Given the description of an element on the screen output the (x, y) to click on. 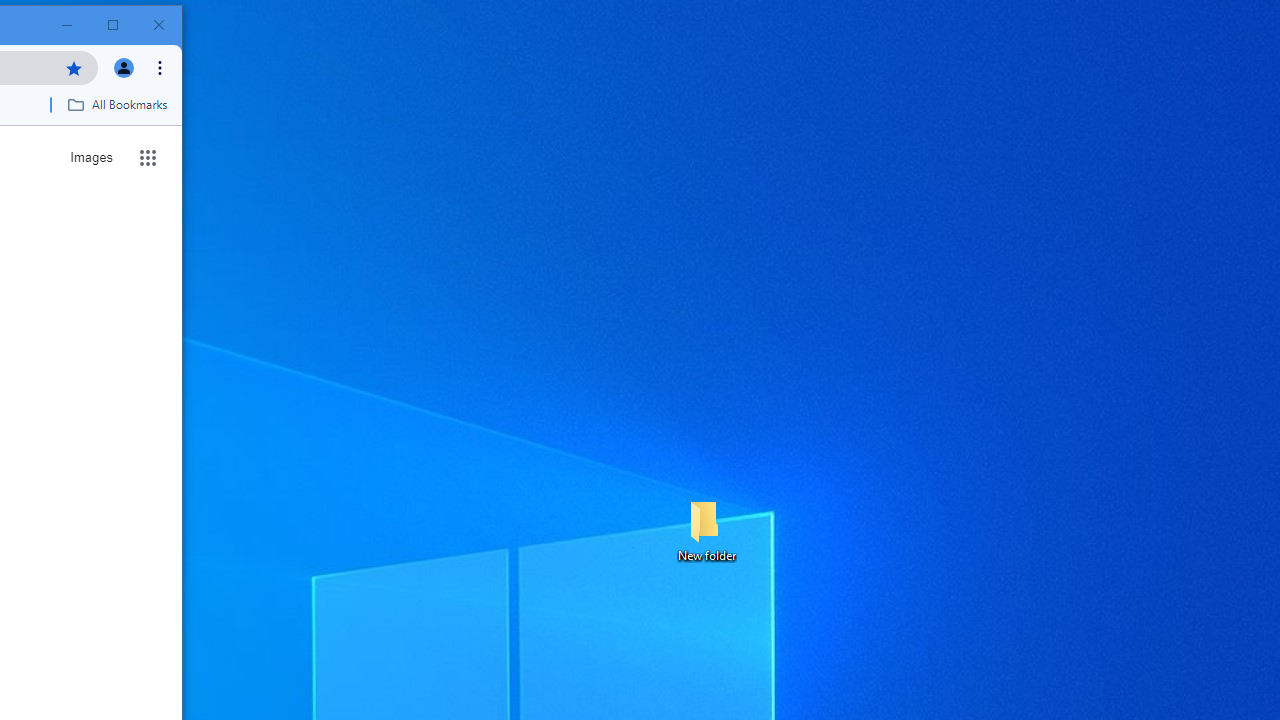
New folder (706, 530)
